Given the description of an element on the screen output the (x, y) to click on. 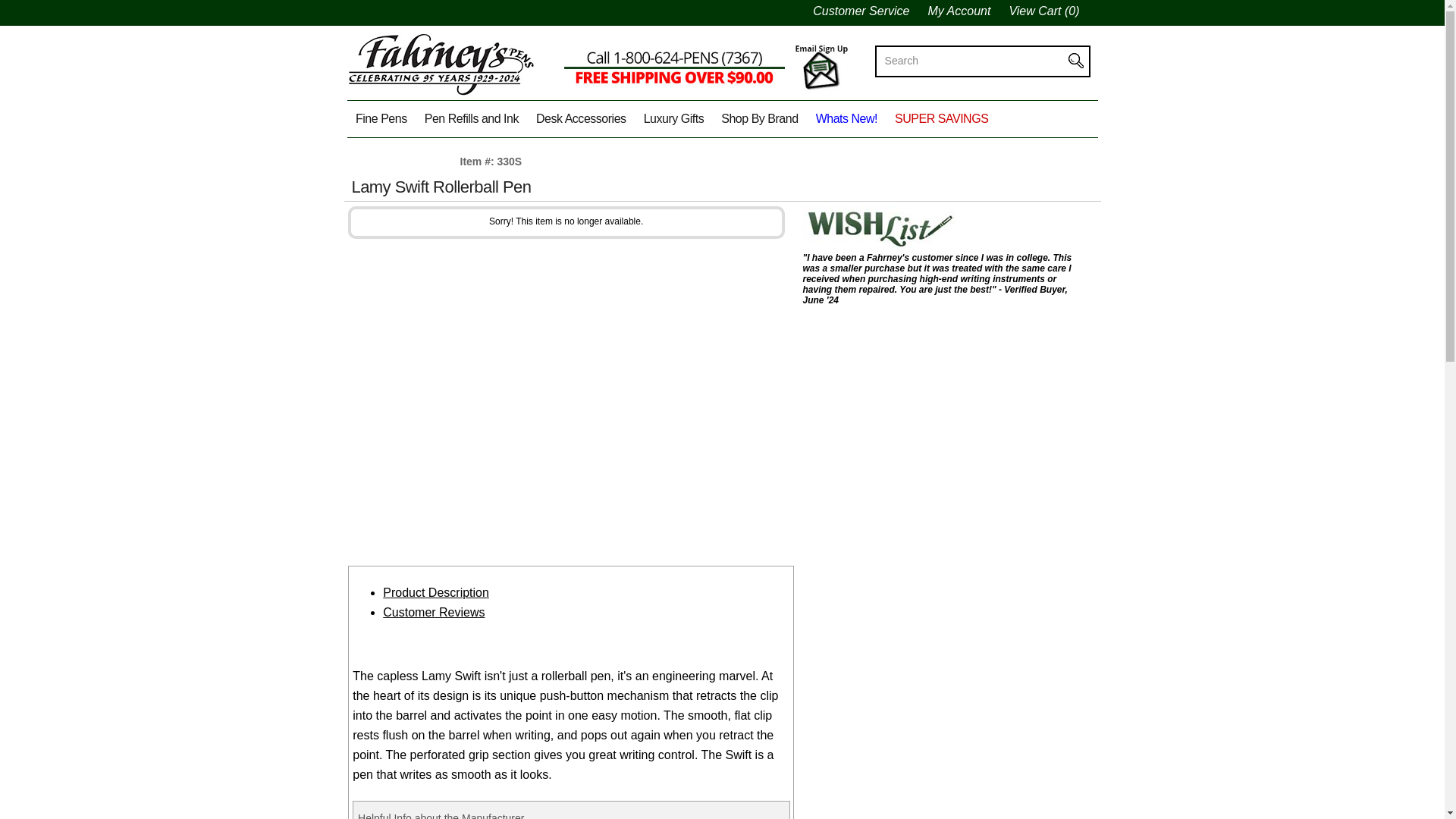
Fahrney's Pens (441, 99)
Desk Accessories (580, 118)
Pen Refills and Ink (470, 118)
Customer Service (869, 10)
Search (973, 60)
Fine Pens (381, 118)
My Account (968, 10)
